Given the description of an element on the screen output the (x, y) to click on. 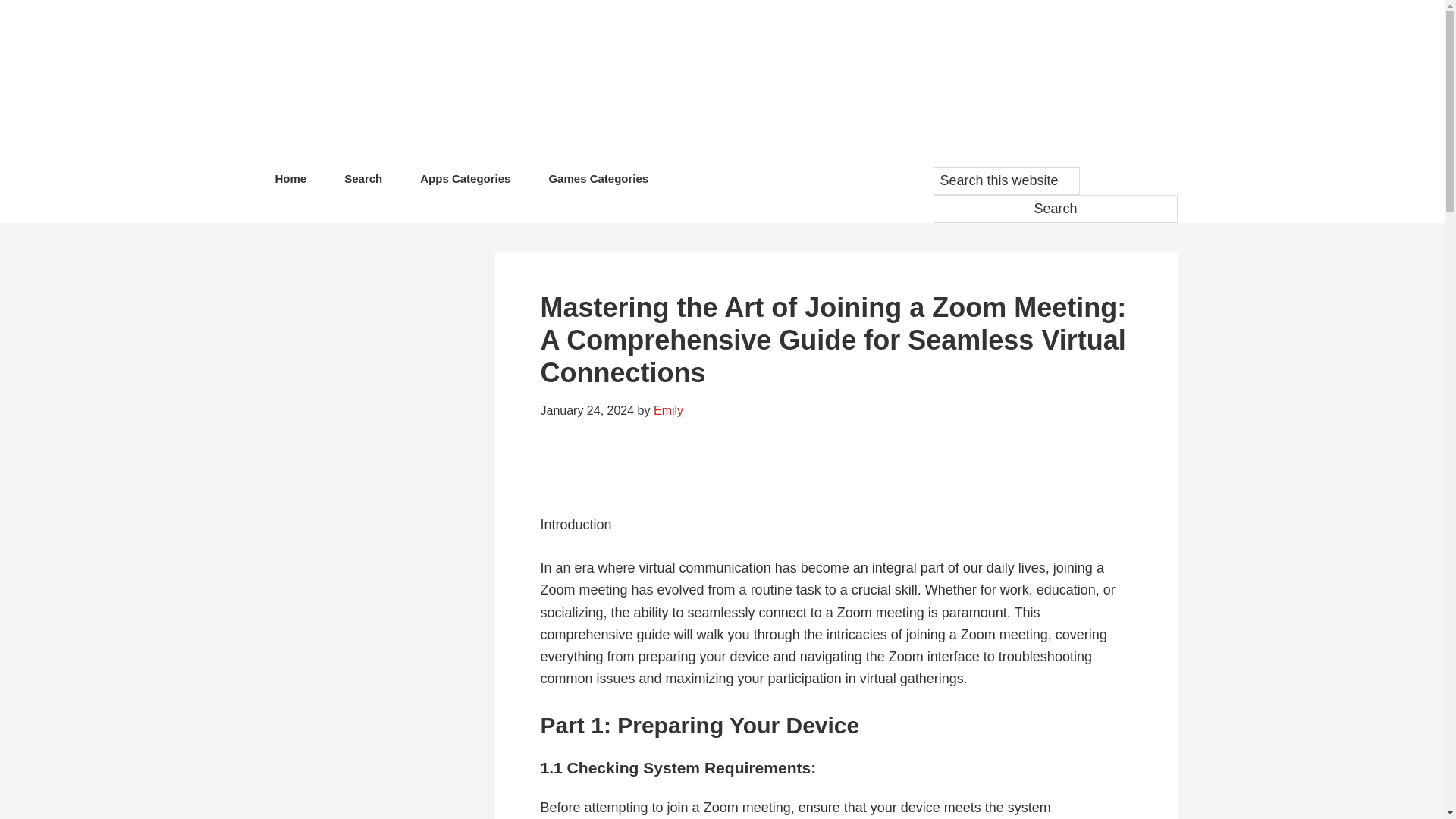
Search (363, 181)
Search (1054, 208)
Homepage (698, 82)
Search (1054, 208)
Home (290, 181)
Apps Categories (465, 181)
Search (1054, 208)
Emily (667, 410)
OceanofAPK (698, 82)
Games Categories (598, 181)
